Given the description of an element on the screen output the (x, y) to click on. 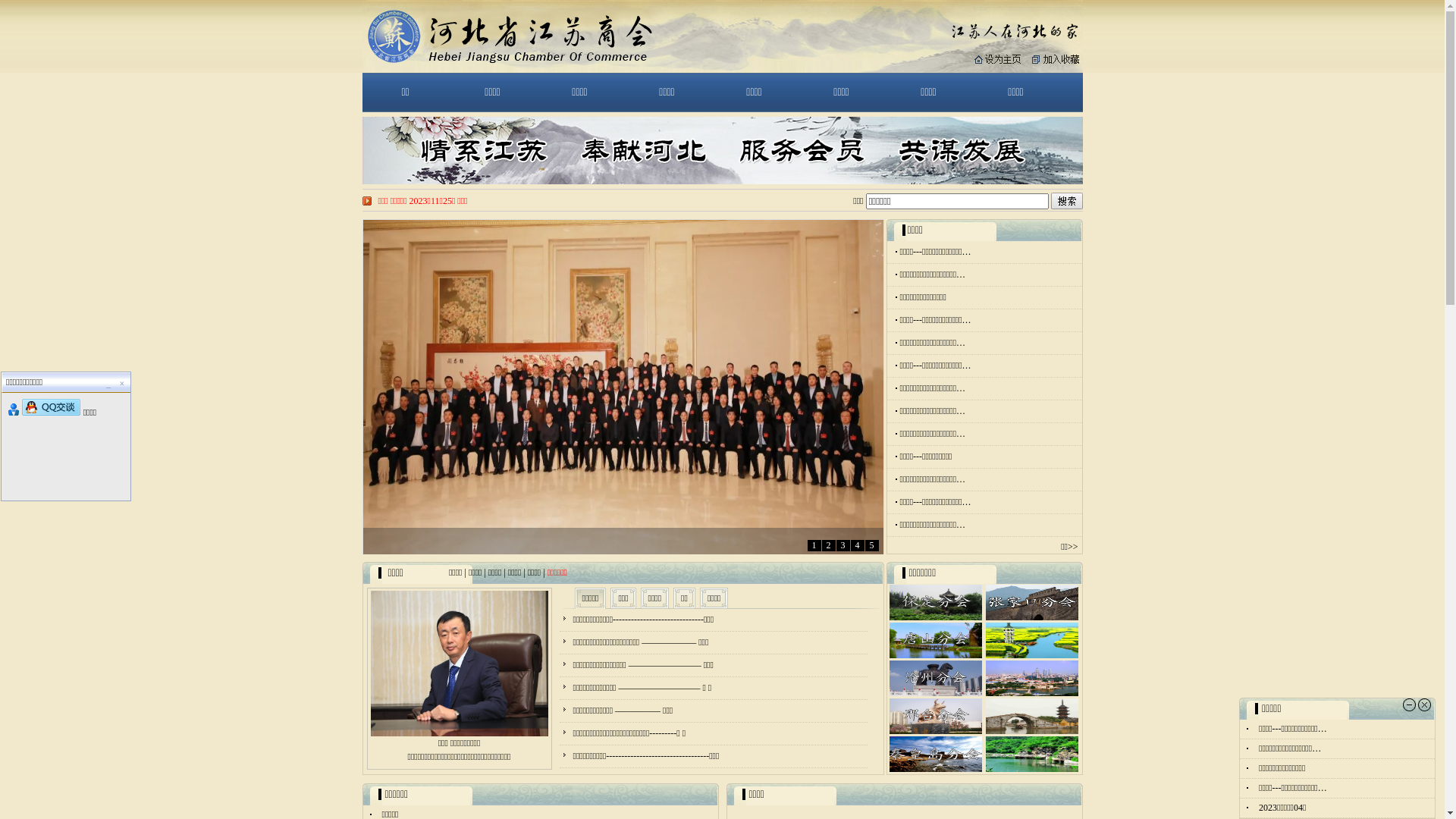
_ Element type: text (108, 383)
